Given the description of an element on the screen output the (x, y) to click on. 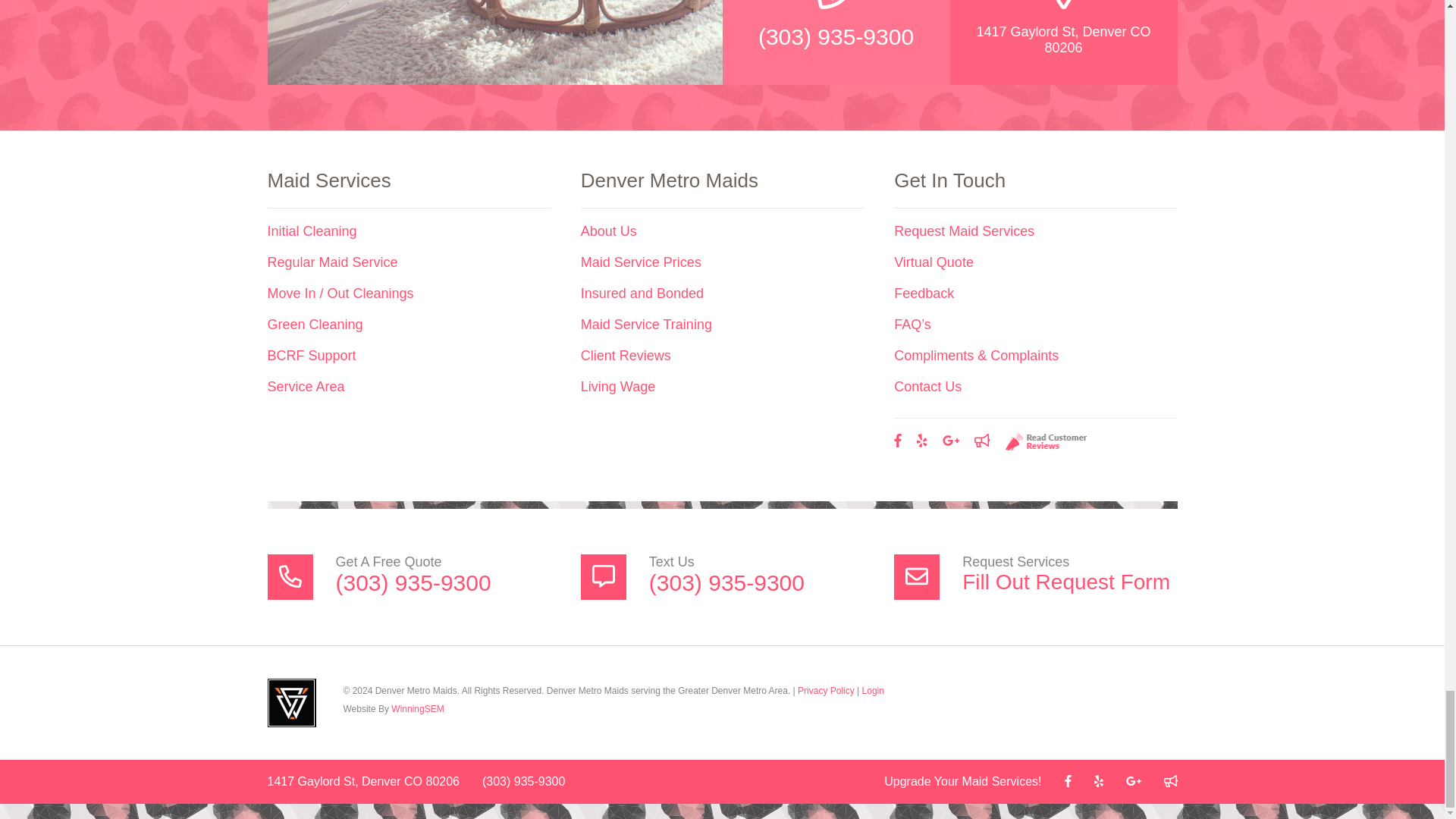
WinningSEM - Creative Web Marketing Solutions (290, 702)
Customer Lobby (1169, 780)
Customer Lobby (982, 441)
